Given the description of an element on the screen output the (x, y) to click on. 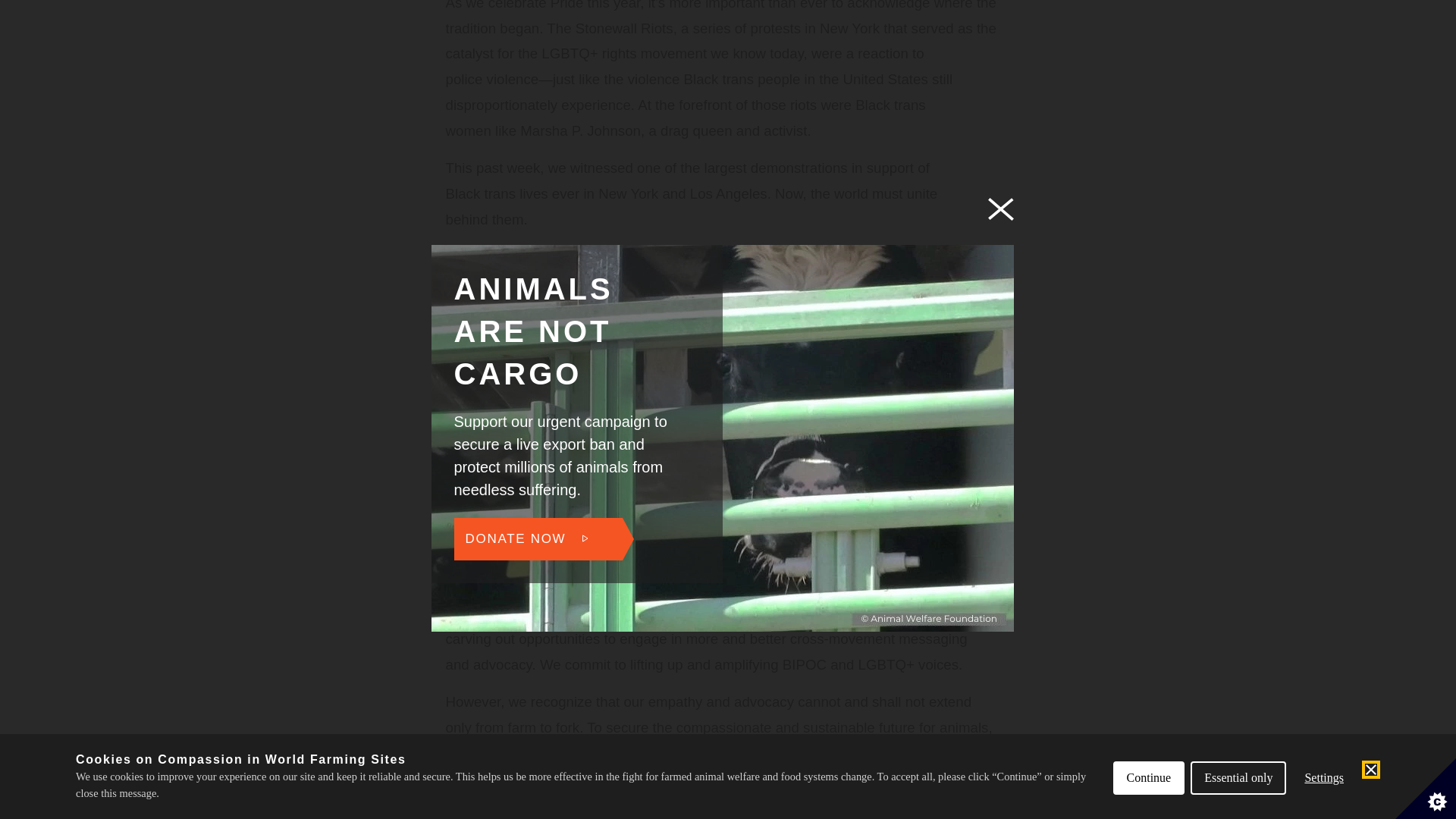
Continue (1149, 12)
Essential only (1238, 5)
Settings (1323, 2)
